Given the description of an element on the screen output the (x, y) to click on. 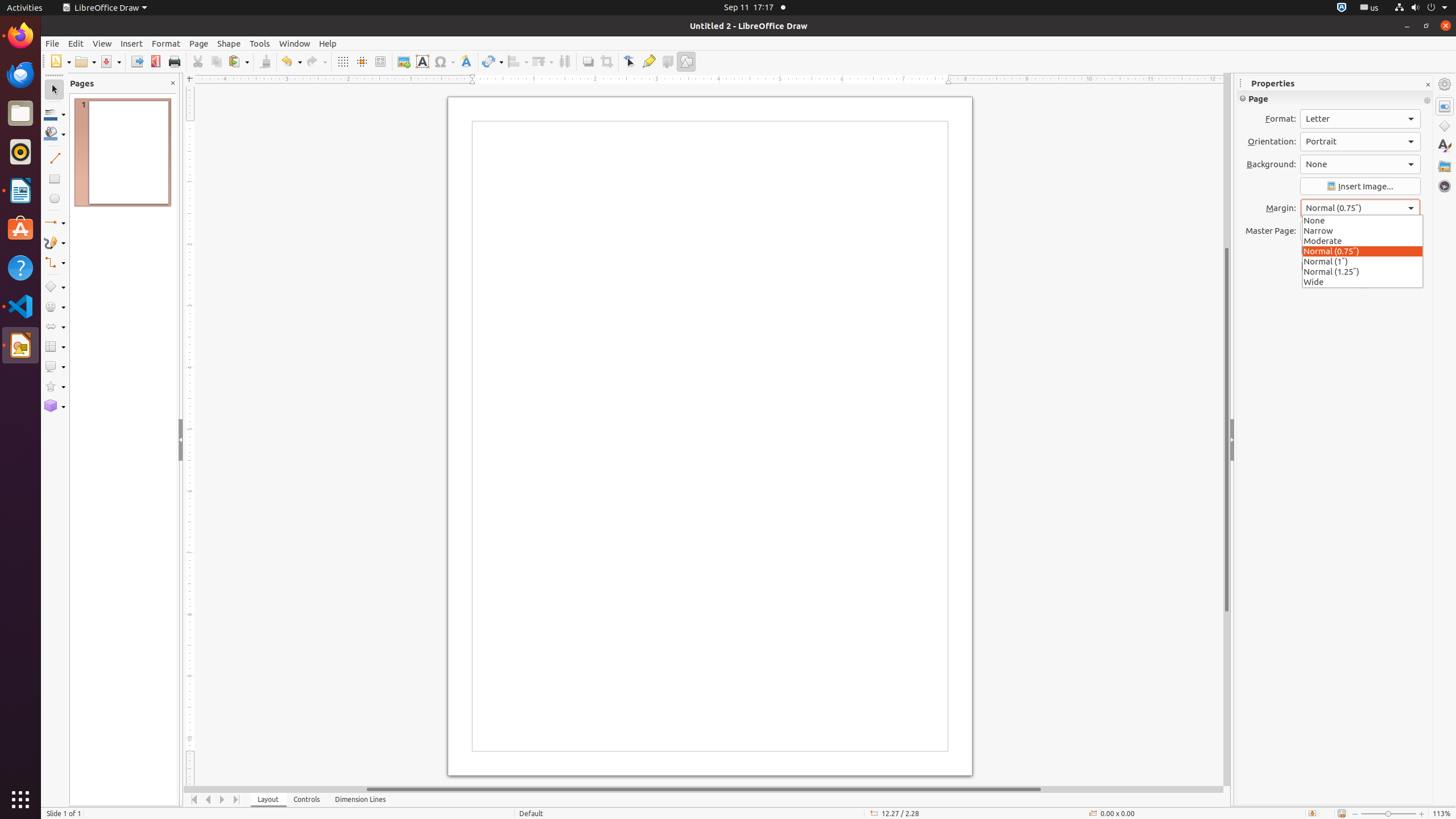
Save Element type: push-button (109, 61)
Shadow Element type: toggle-button (587, 61)
Format: Element type: combo-box (1360, 118)
Connectors Element type: push-button (54, 262)
Ubuntu Software Element type: push-button (20, 229)
